Given the description of an element on the screen output the (x, y) to click on. 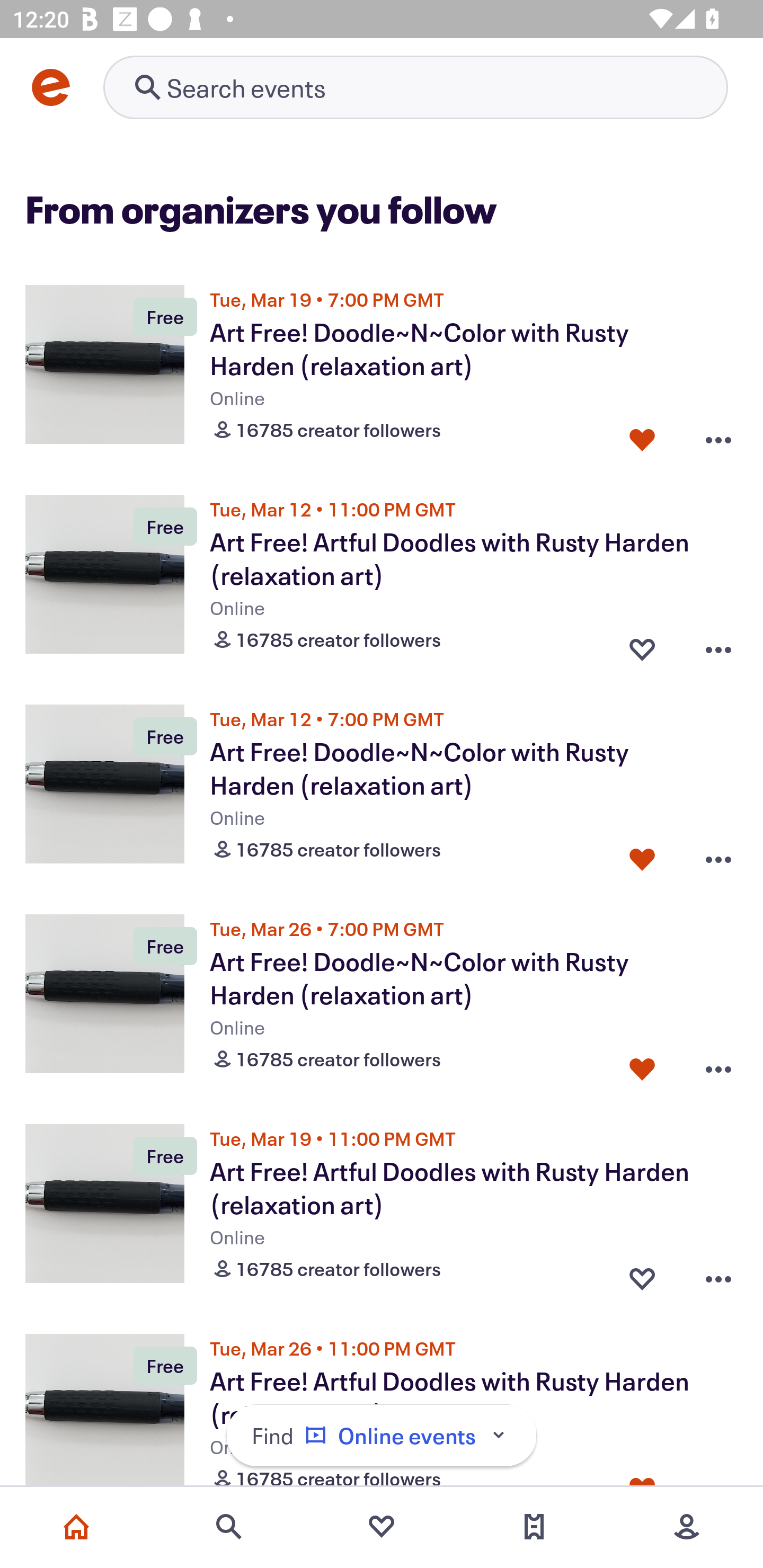
Retry's image Search events (415, 86)
Favorite button (642, 434)
Overflow menu button (718, 434)
Favorite button (642, 644)
Overflow menu button (718, 644)
Favorite button (642, 855)
Overflow menu button (718, 855)
Favorite button (642, 1065)
Overflow menu button (718, 1065)
Favorite button (642, 1274)
Overflow menu button (718, 1274)
Find Online events (381, 1435)
Home (76, 1526)
Search events (228, 1526)
Favorites (381, 1526)
Tickets (533, 1526)
More (686, 1526)
